Given the description of an element on the screen output the (x, y) to click on. 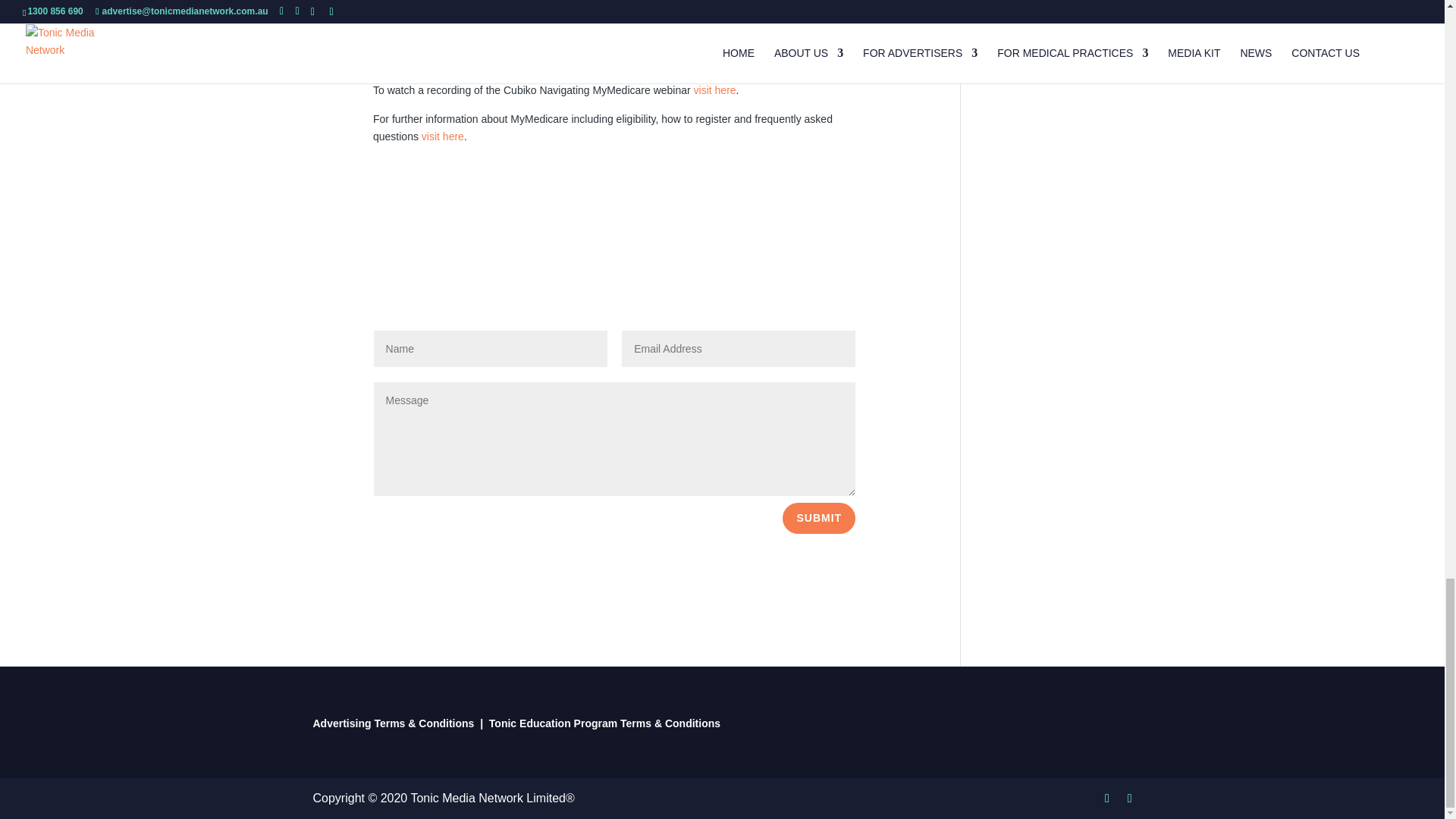
visit here (443, 136)
SUBMIT (819, 517)
visit here (715, 90)
